Given the description of an element on the screen output the (x, y) to click on. 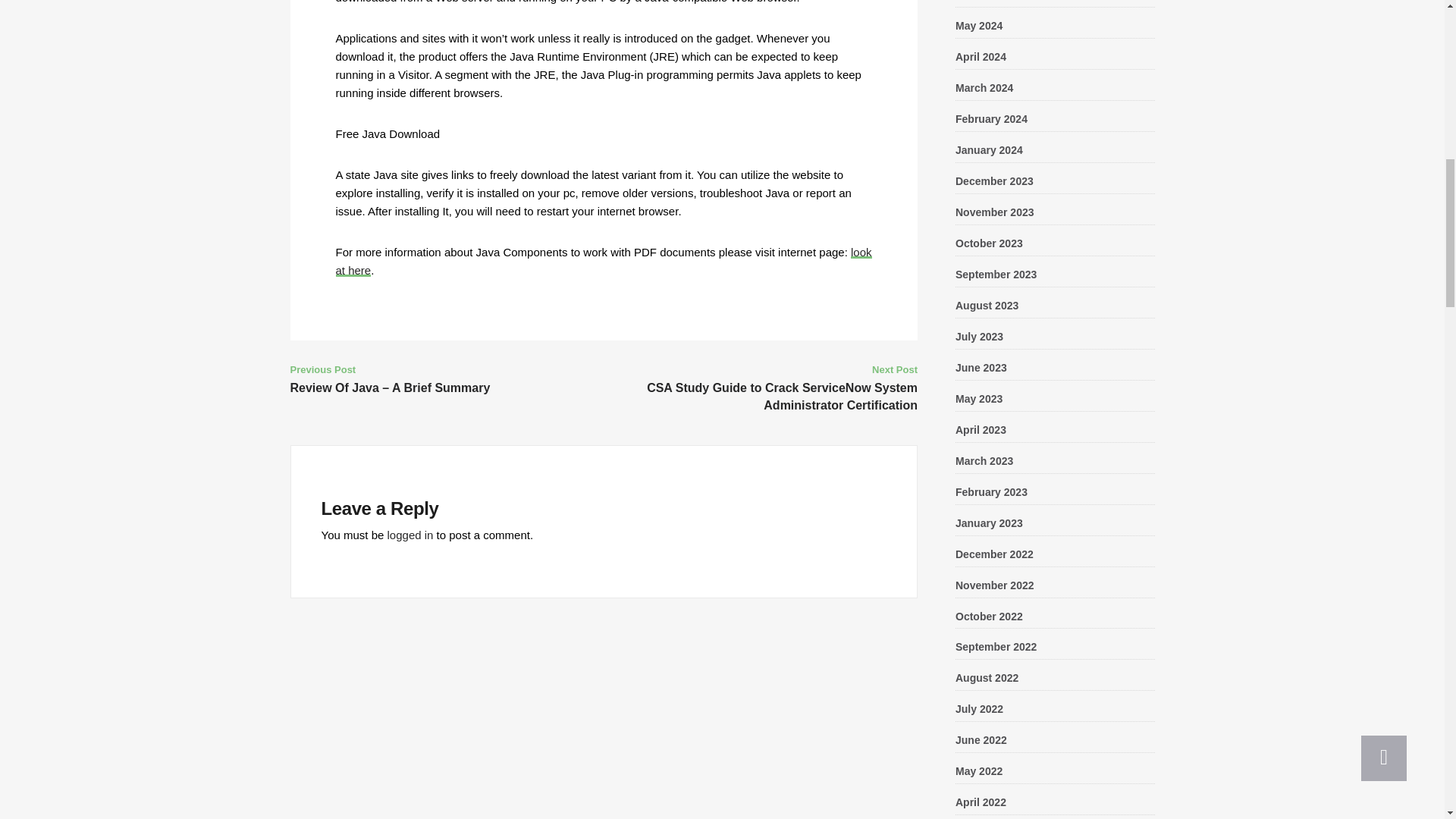
February 2023 (991, 491)
March 2023 (984, 460)
August 2023 (986, 305)
July 2023 (979, 336)
January 2023 (989, 522)
May 2024 (979, 25)
June 2024 (981, 0)
January 2024 (989, 150)
April 2023 (980, 429)
look at here (602, 260)
